Given the description of an element on the screen output the (x, y) to click on. 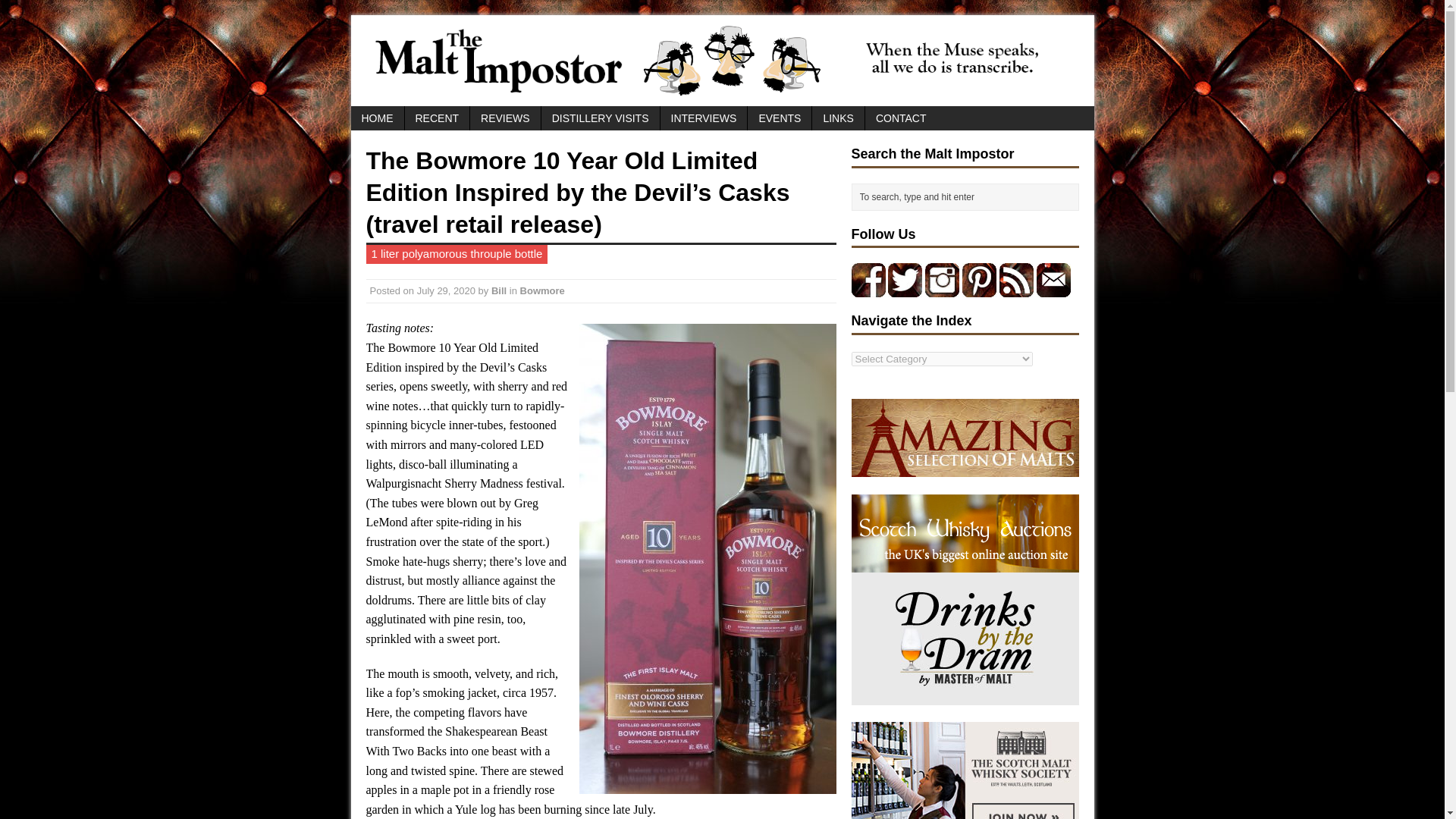
Bill (499, 290)
HOME (376, 118)
Bowmore (541, 290)
REVIEWS (505, 118)
INTERVIEWS (704, 118)
CONTACT (900, 118)
The Malt Impostor (721, 60)
RECENT (437, 118)
EVENTS (779, 118)
DISTILLERY VISITS (600, 118)
